Given the description of an element on the screen output the (x, y) to click on. 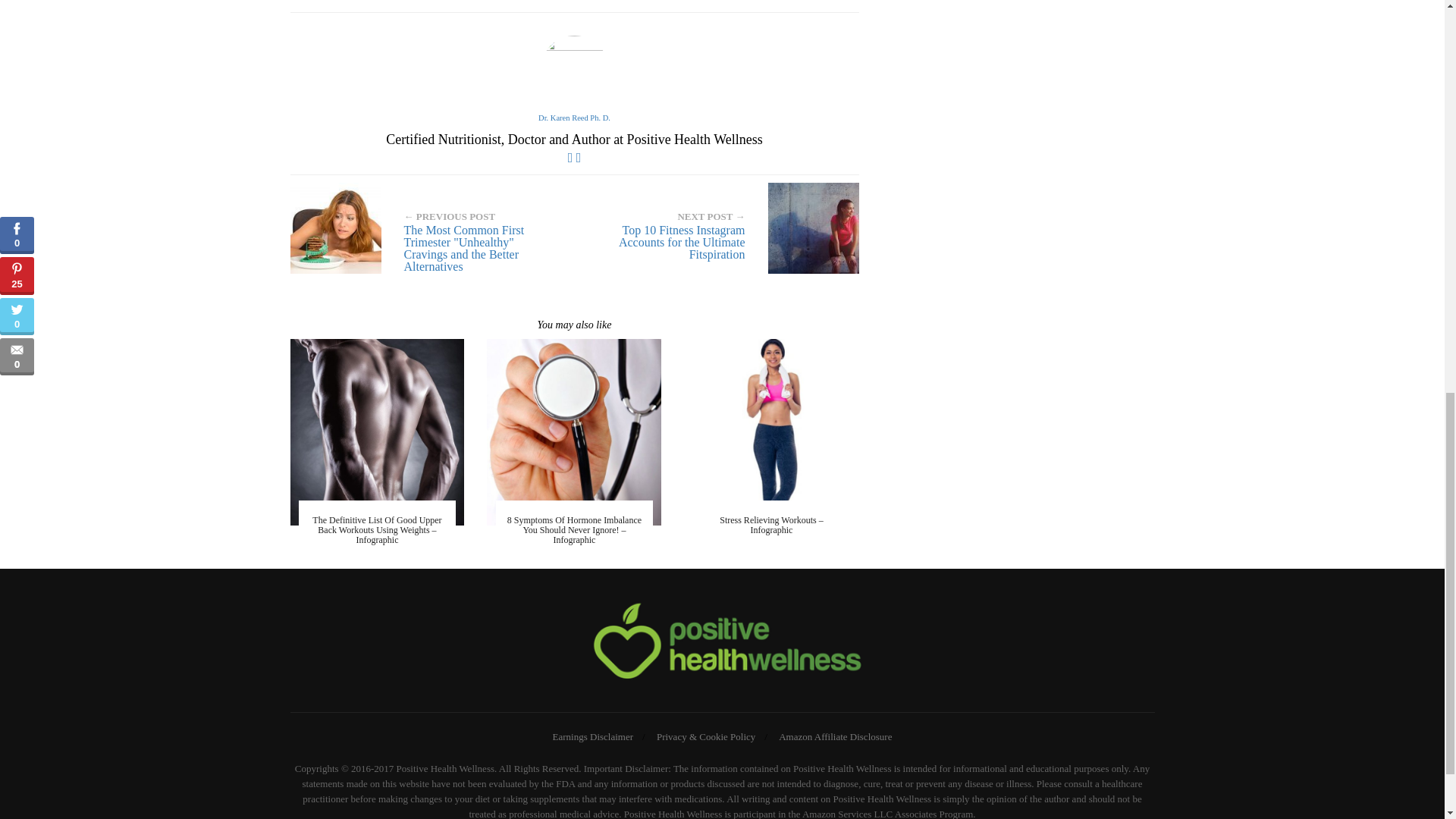
Earnings Disclaimer (593, 736)
Posts by Dr. Karen Reed Ph. D. (574, 117)
The Most Common First Trimester  (425, 227)
Amazon Affiliate Disclosure (835, 736)
Researched and Credible Health Advice (721, 643)
Dr. Karen Reed Ph. D. (574, 117)
